Given the description of an element on the screen output the (x, y) to click on. 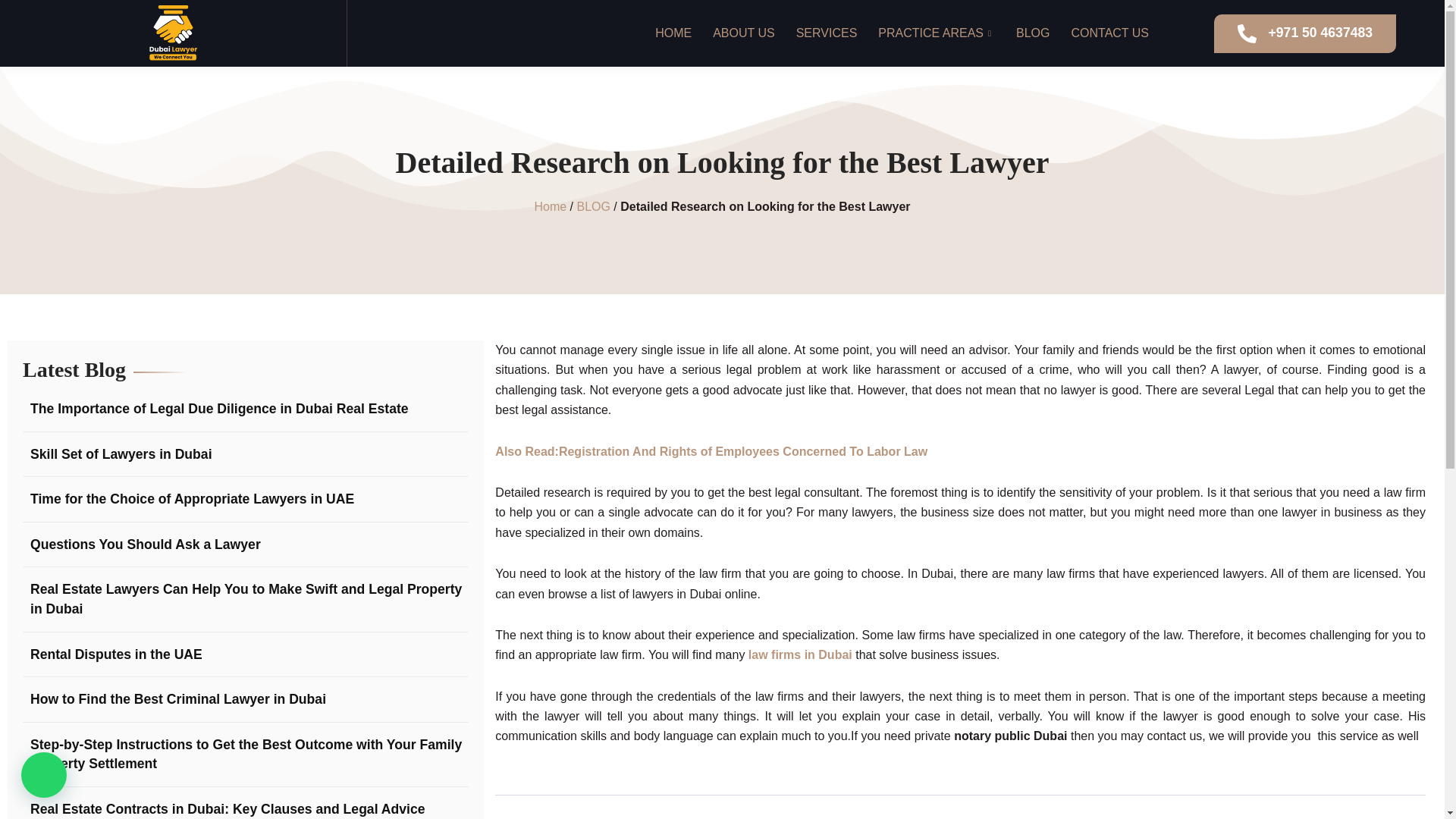
law firms in Dubai (799, 654)
Rental Disputes in the UAE (112, 655)
Questions You Should Ask a Lawyer (141, 545)
SERVICES (825, 33)
ABOUT US (742, 33)
BLOG (593, 205)
CONTACT US (1108, 33)
PRACTICE AREAS (935, 33)
How to Find the Best Criminal Lawyer in Dubai (174, 700)
Home (550, 205)
Real Estate Contracts in Dubai: Key Clauses and Legal Advice (224, 809)
The Importance of Legal Due Diligence in Dubai Real Estate (216, 409)
